Given the description of an element on the screen output the (x, y) to click on. 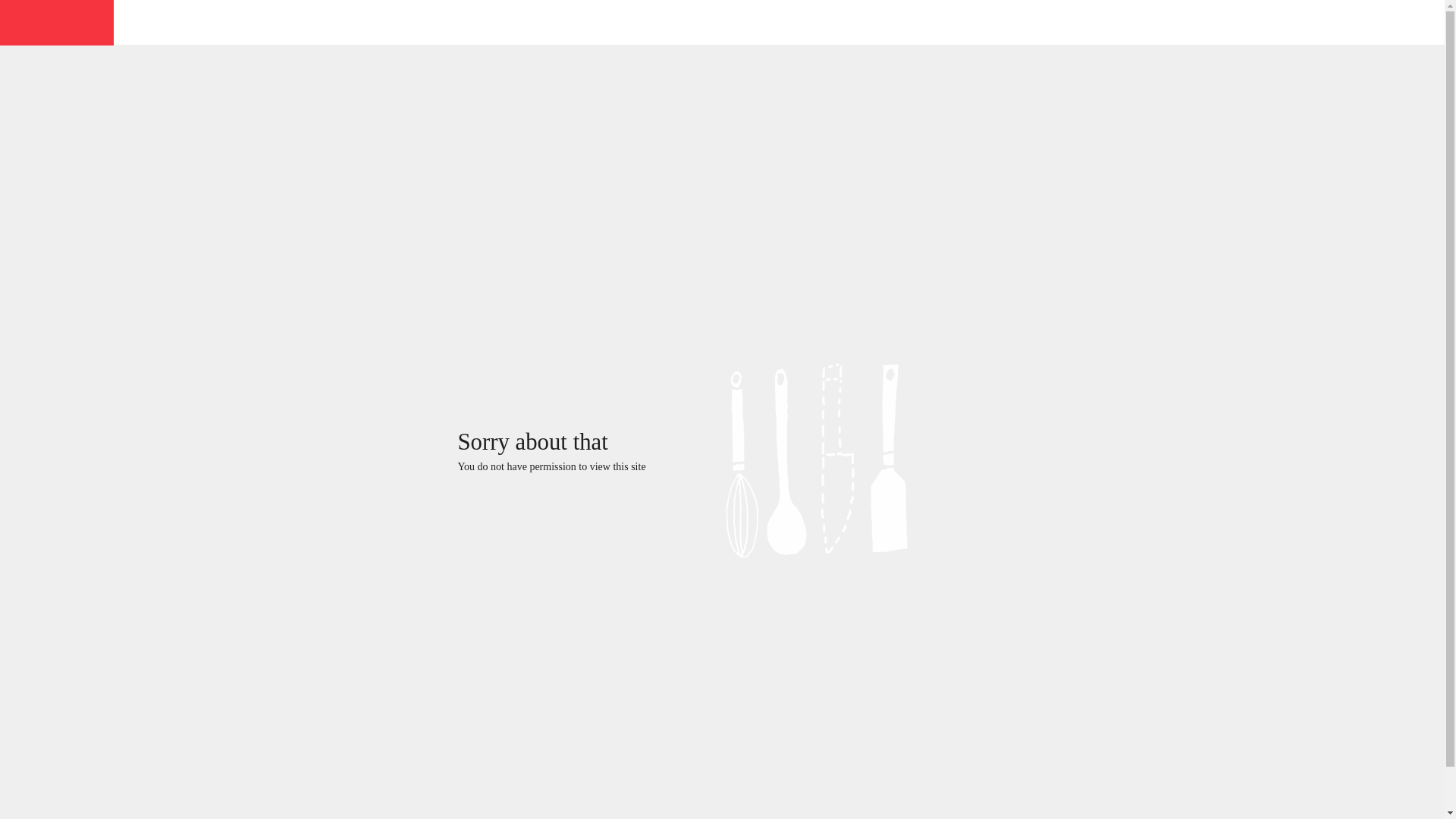
grubhub (56, 21)
